Given the description of an element on the screen output the (x, y) to click on. 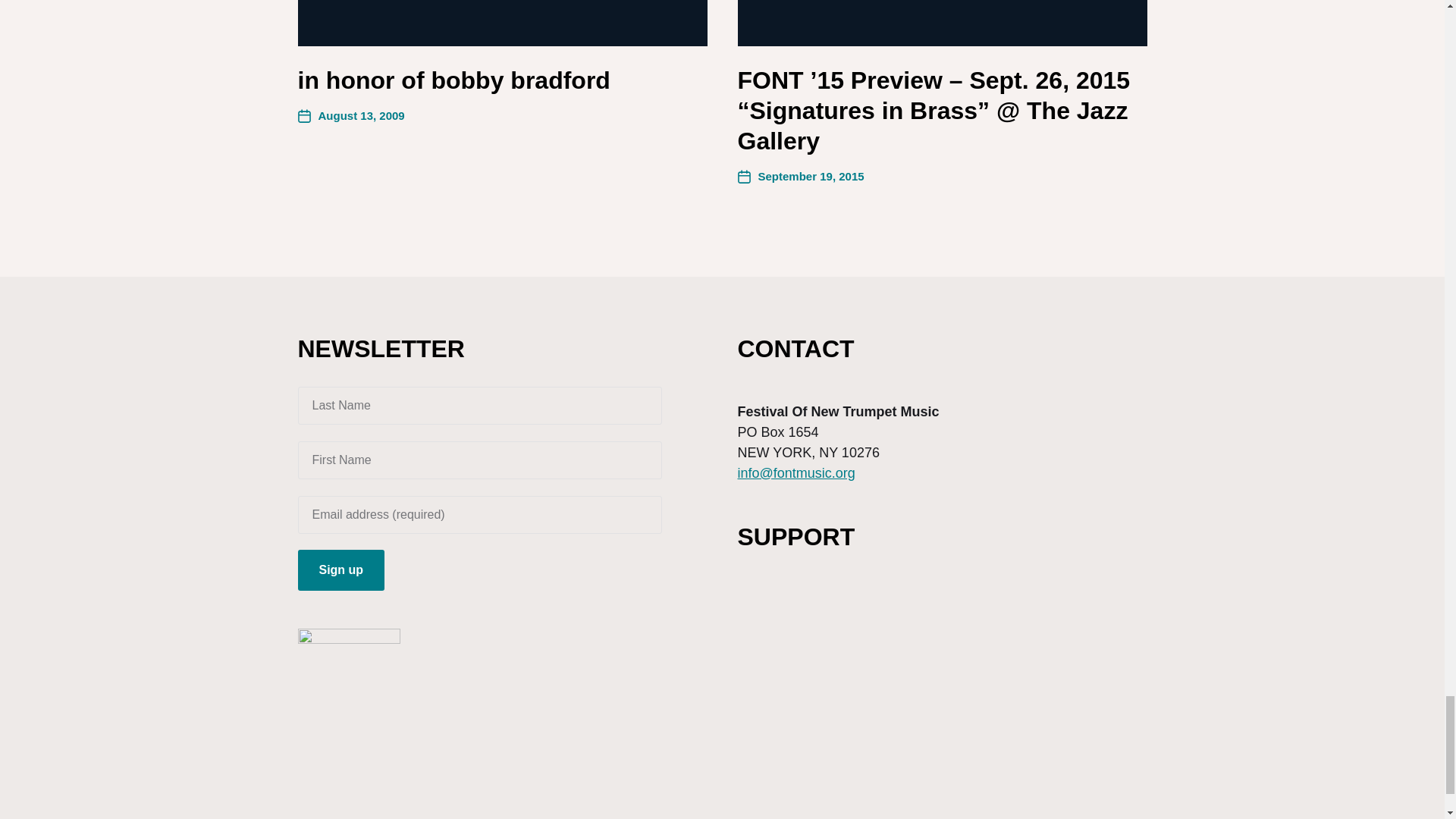
Sign up (340, 569)
